Given the description of an element on the screen output the (x, y) to click on. 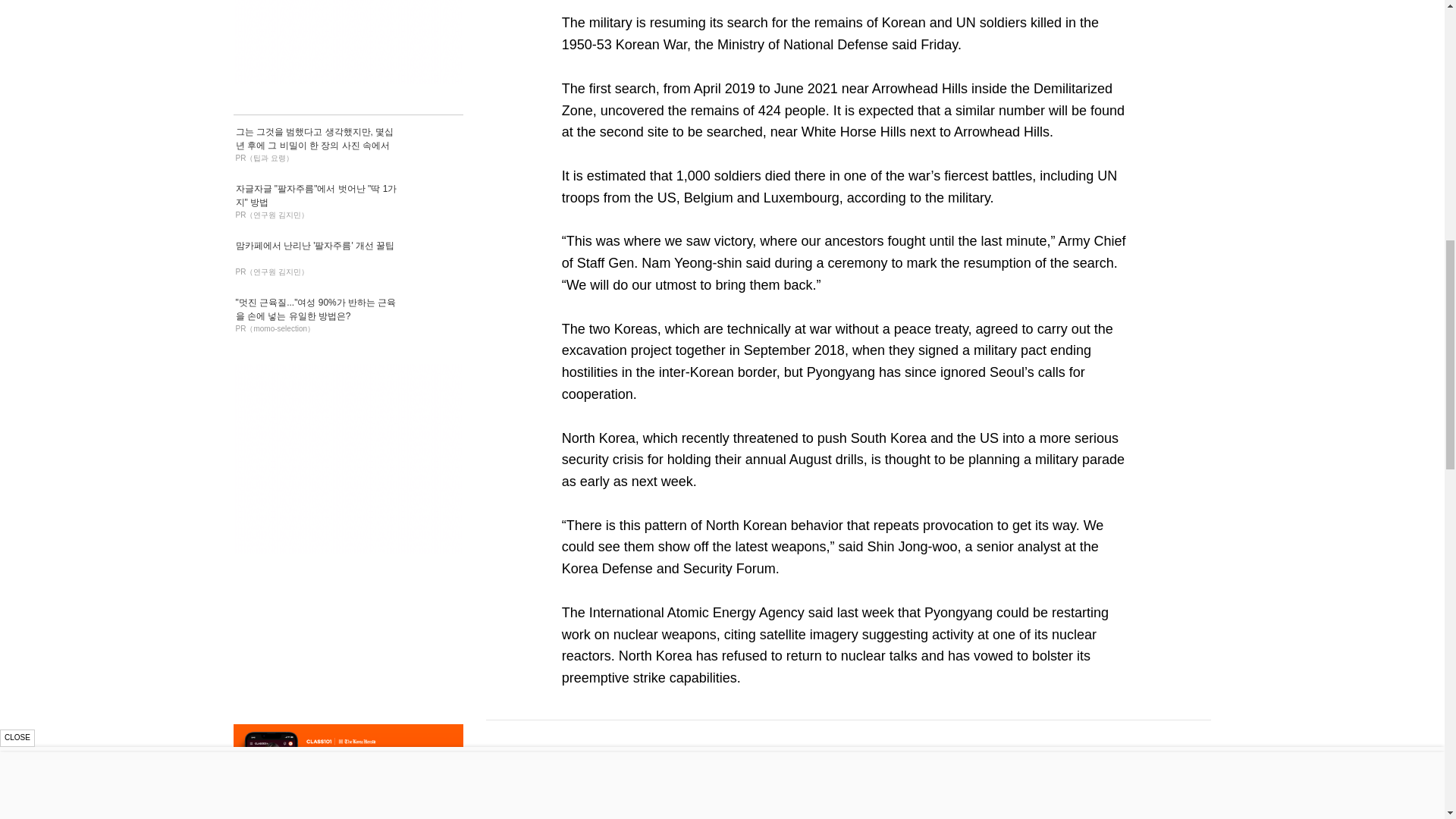
3rd party ad content (347, 811)
3rd party ad content (347, 42)
3rd party ad content (347, 458)
